Given the description of an element on the screen output the (x, y) to click on. 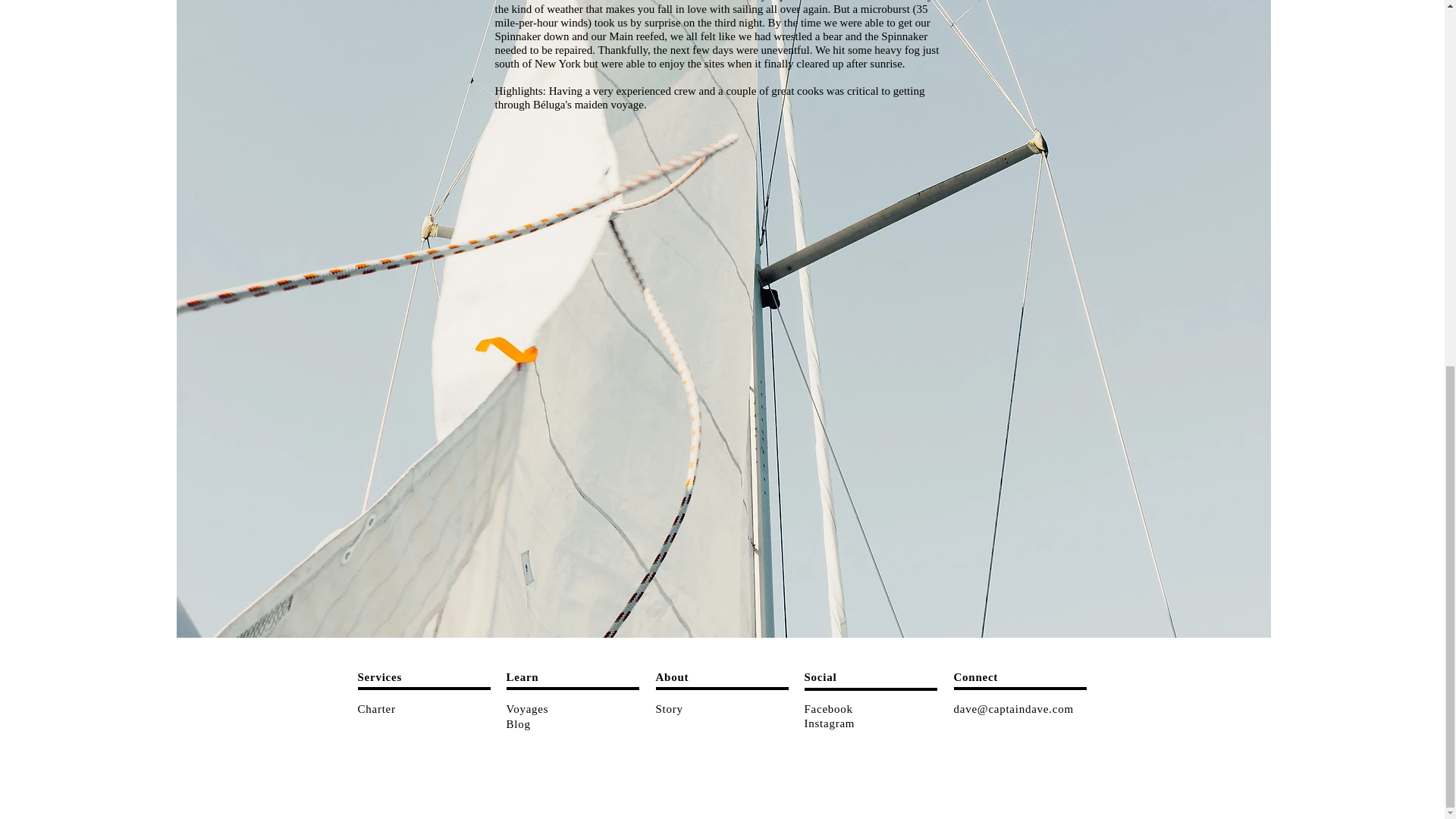
Instagram (828, 722)
Blog (518, 723)
Charter (377, 707)
Voyages (527, 707)
Story (668, 707)
Facebook (827, 707)
